Given the description of an element on the screen output the (x, y) to click on. 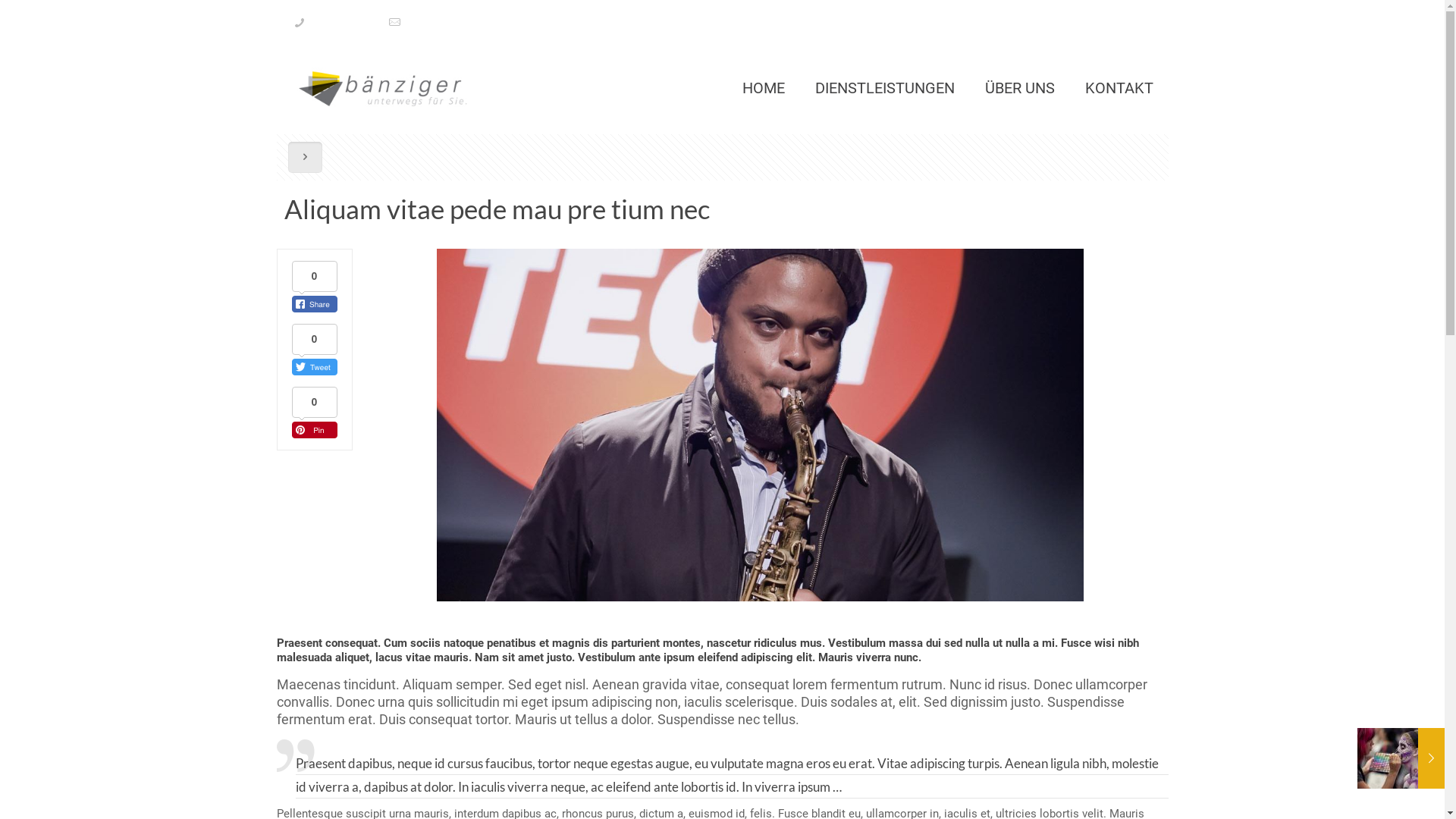
071 344 16 82 Element type: text (344, 22)
DIENSTLEISTUNGEN Element type: text (884, 87)
KONTAKT Element type: text (1118, 87)
info@baenziger-kipper.ch Element type: text (466, 22)
HOME Element type: text (762, 87)
